Given the description of an element on the screen output the (x, y) to click on. 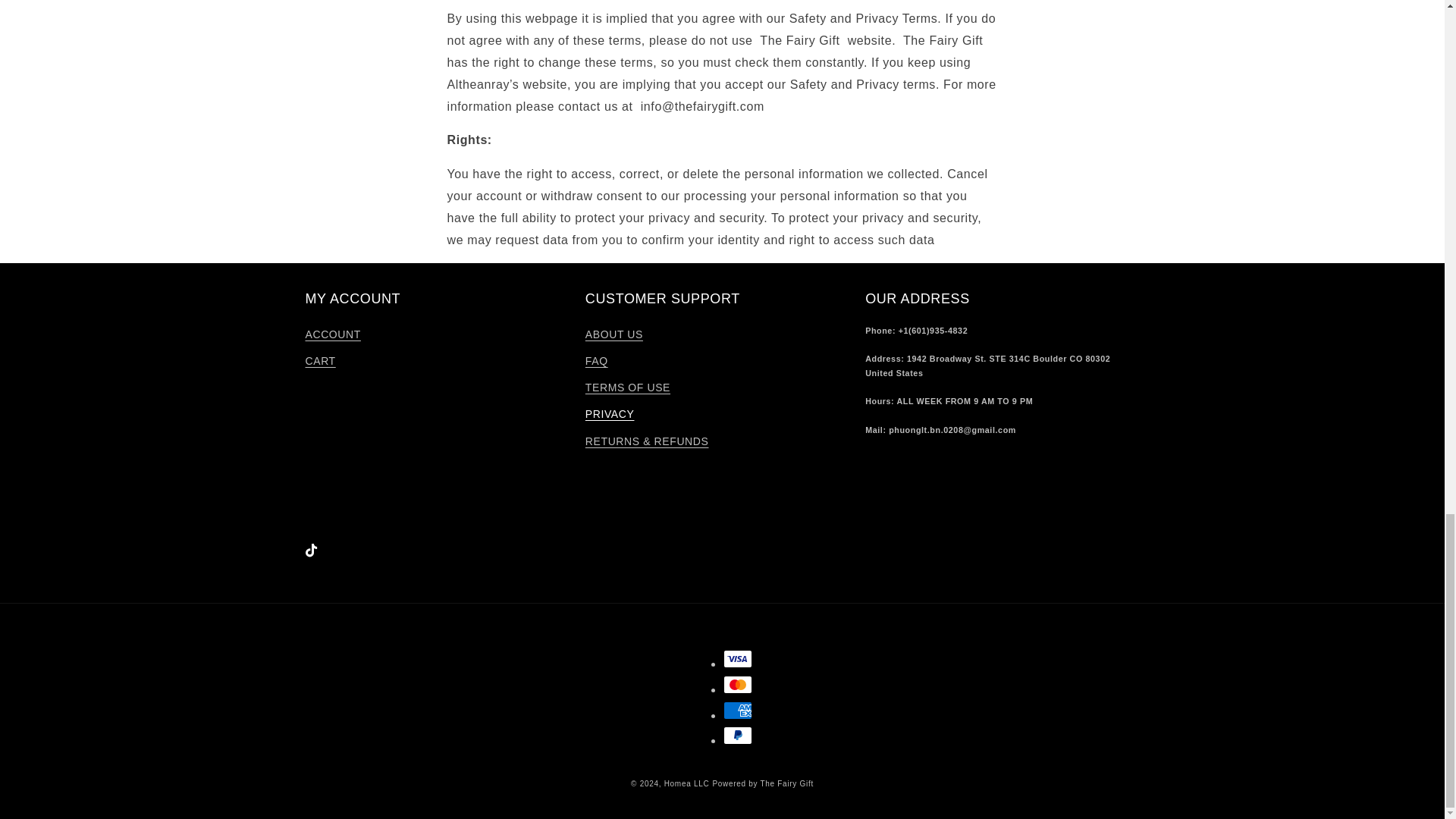
ACCOUNT (331, 336)
CART (319, 361)
PayPal (737, 735)
FAQ (596, 361)
TERMS OF USE (627, 387)
Visa (737, 659)
American Express (737, 710)
Mastercard (737, 684)
ABOUT US (614, 336)
